Given the description of an element on the screen output the (x, y) to click on. 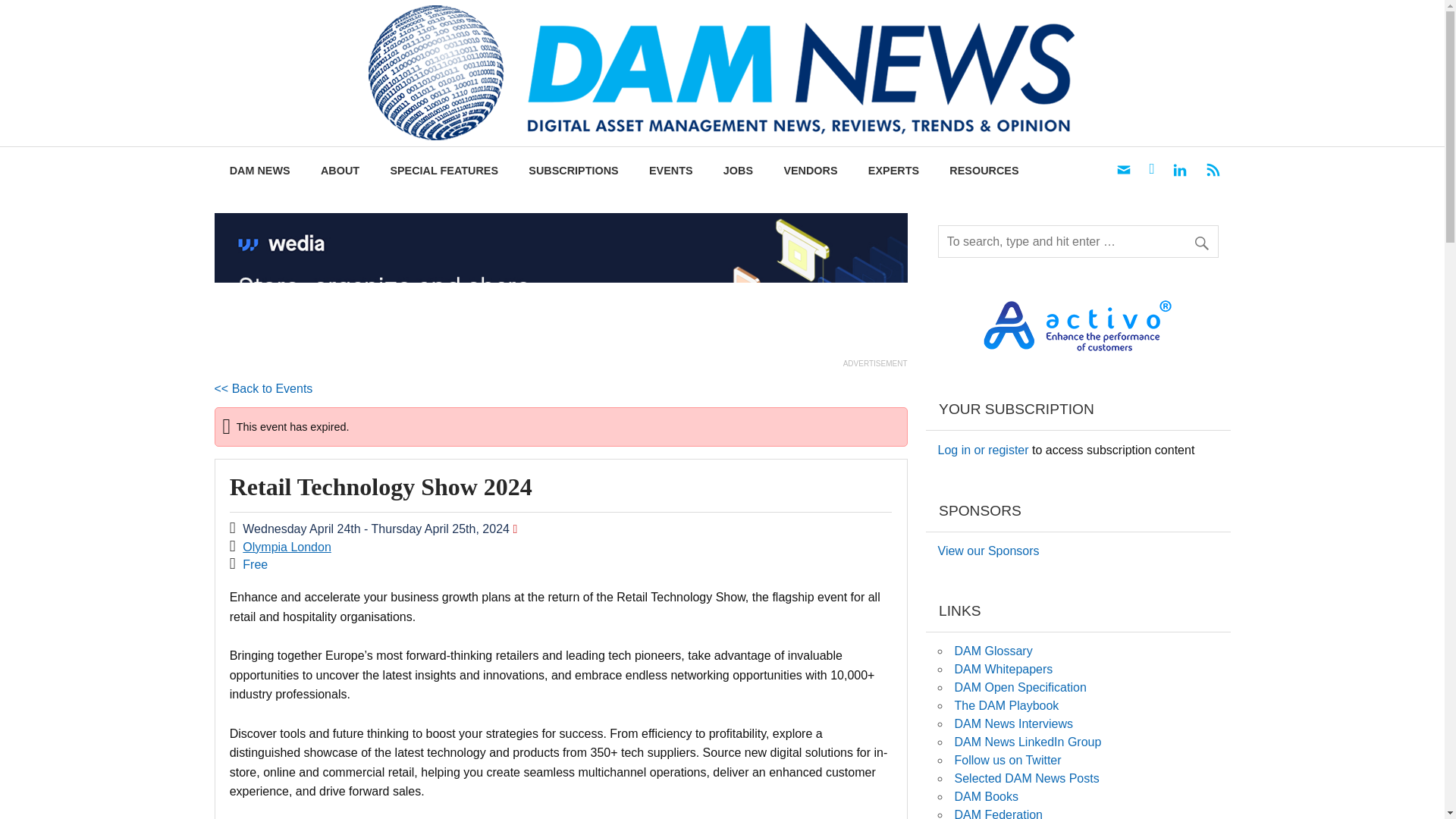
DAM Glossary (992, 650)
DAM Whitepapers (1002, 668)
DAM Open Specification (1019, 686)
EVENTS (670, 170)
Digital Asset Management News (1265, 31)
RESOURCES (983, 170)
Digital Asset Management Books (985, 796)
The DAM Playbook (1005, 705)
View our Sponsors (988, 550)
SPECIAL FEATURES (443, 170)
